Given the description of an element on the screen output the (x, y) to click on. 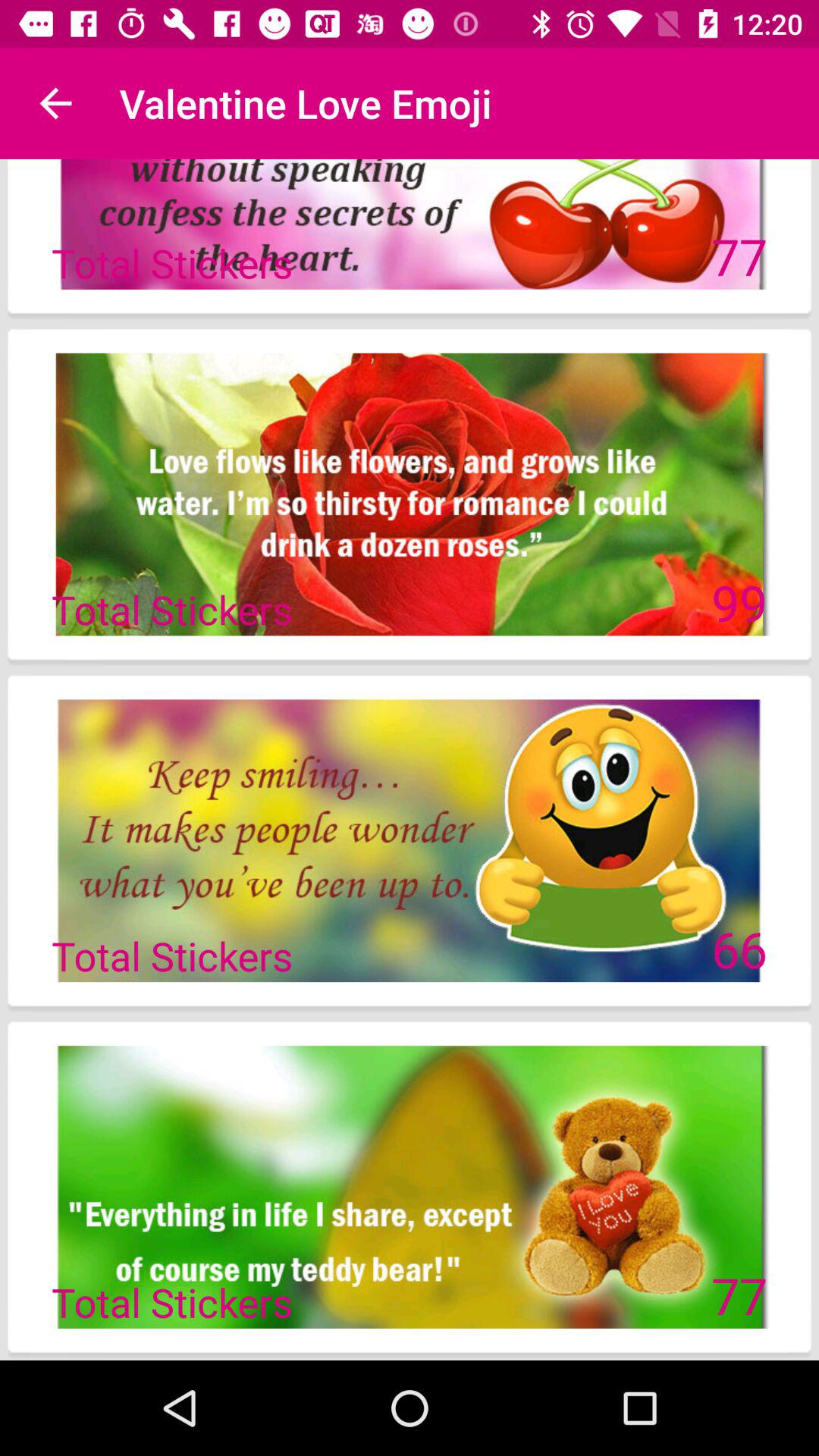
turn off the icon next to valentine love emoji icon (55, 103)
